Given the description of an element on the screen output the (x, y) to click on. 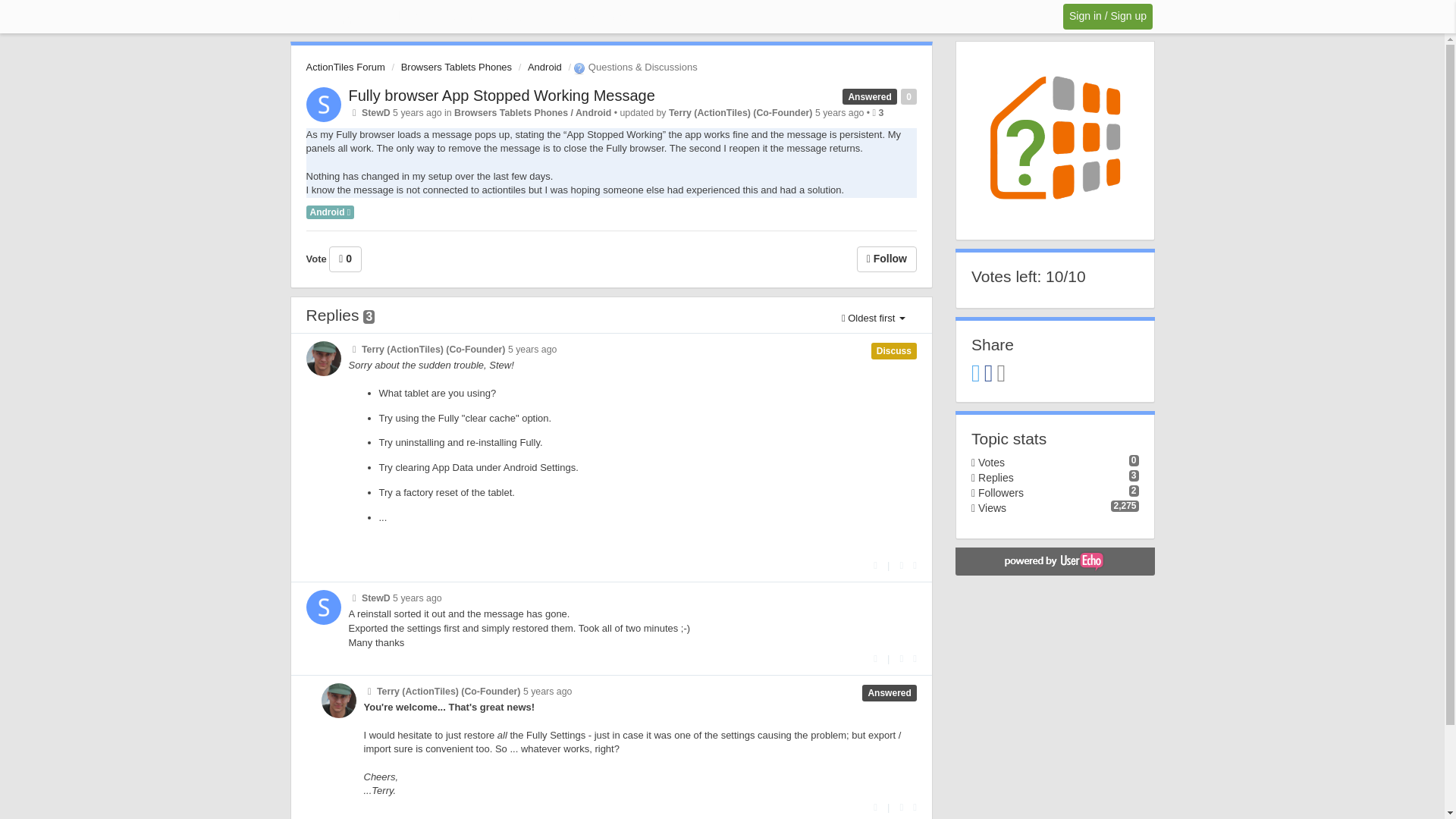
StewD (375, 597)
StewD (375, 112)
5 years ago (547, 691)
Oldest first (873, 318)
5 years ago (532, 348)
Fully browser App Stopped Working Message (502, 95)
Browsers Tablets Phones (456, 66)
Android (544, 66)
0 (345, 258)
Follow (887, 258)
